Given the description of an element on the screen output the (x, y) to click on. 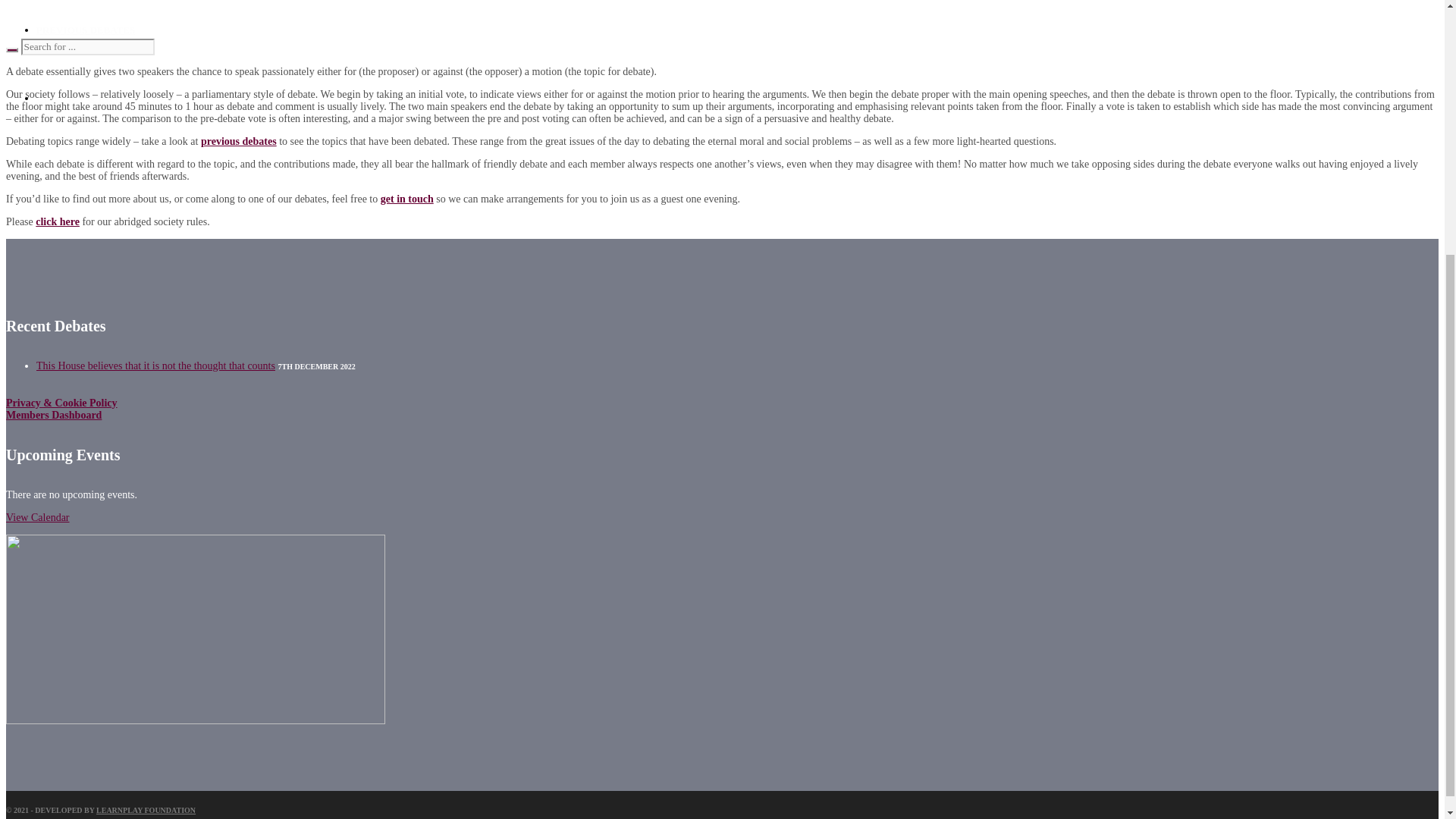
Members Dashboard (53, 414)
This House believes that it is not the thought that counts (155, 365)
PREVIOUS DEBATES (85, 30)
previous debates (238, 141)
click here (57, 221)
get in touch (406, 198)
View Calendar (37, 517)
LEARNPLAY FOUNDATION (145, 809)
